Given the description of an element on the screen output the (x, y) to click on. 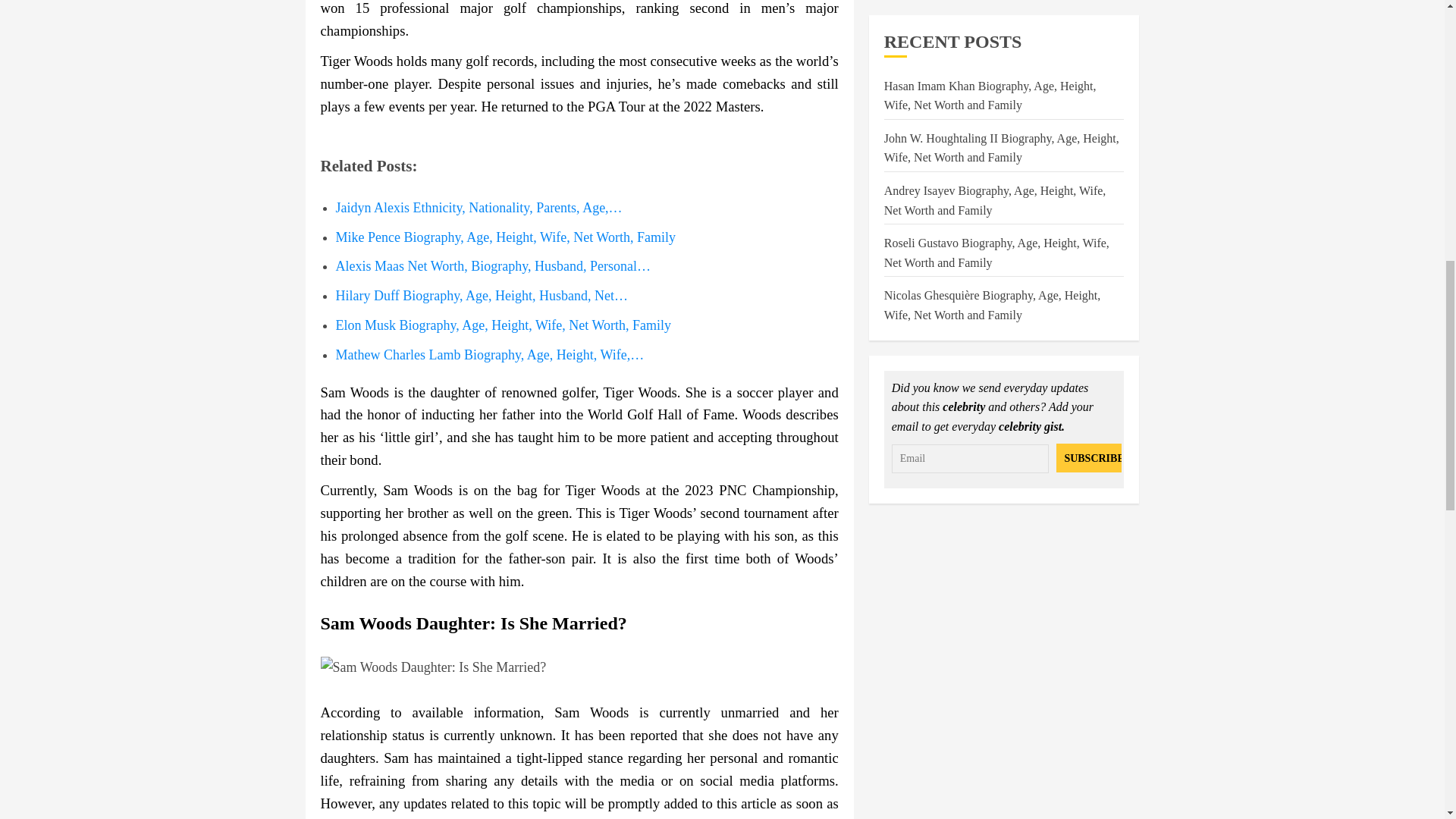
Elon Musk Biography, Age, Height, Wife, Net Worth, Family (501, 324)
Mike Pence Biography, Age, Height, Wife, Net Worth, Family (504, 237)
